Given the description of an element on the screen output the (x, y) to click on. 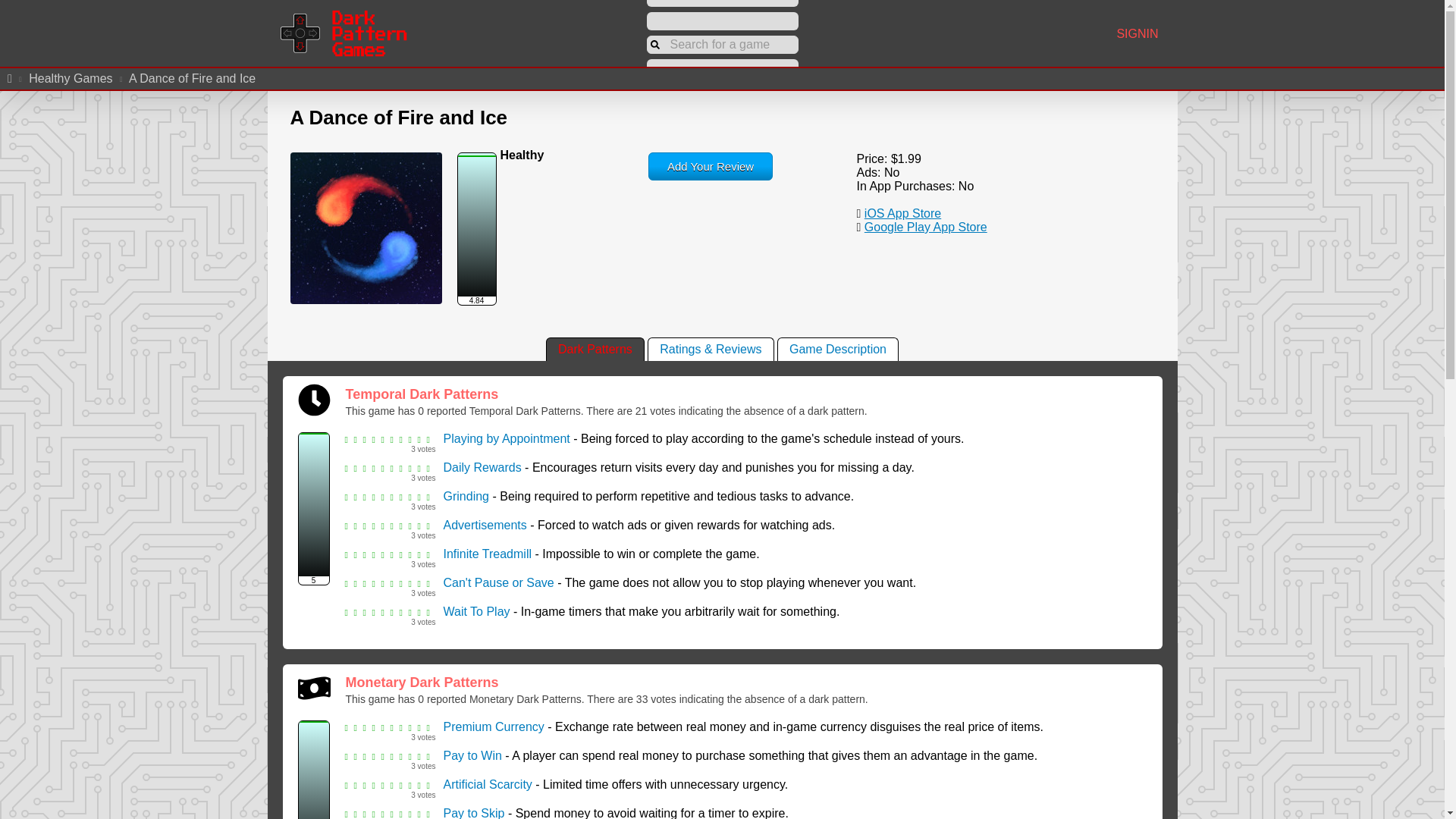
Add Your Review (710, 166)
Infinite Treadmill (486, 553)
Pay to Skip (472, 812)
Playing by Appointment (505, 438)
Game Description (837, 349)
Wait To Play (475, 611)
iOS App Store (902, 213)
Healthy Games (70, 78)
Pay to Win (471, 755)
Artificial Scarcity (486, 784)
